Given the description of an element on the screen output the (x, y) to click on. 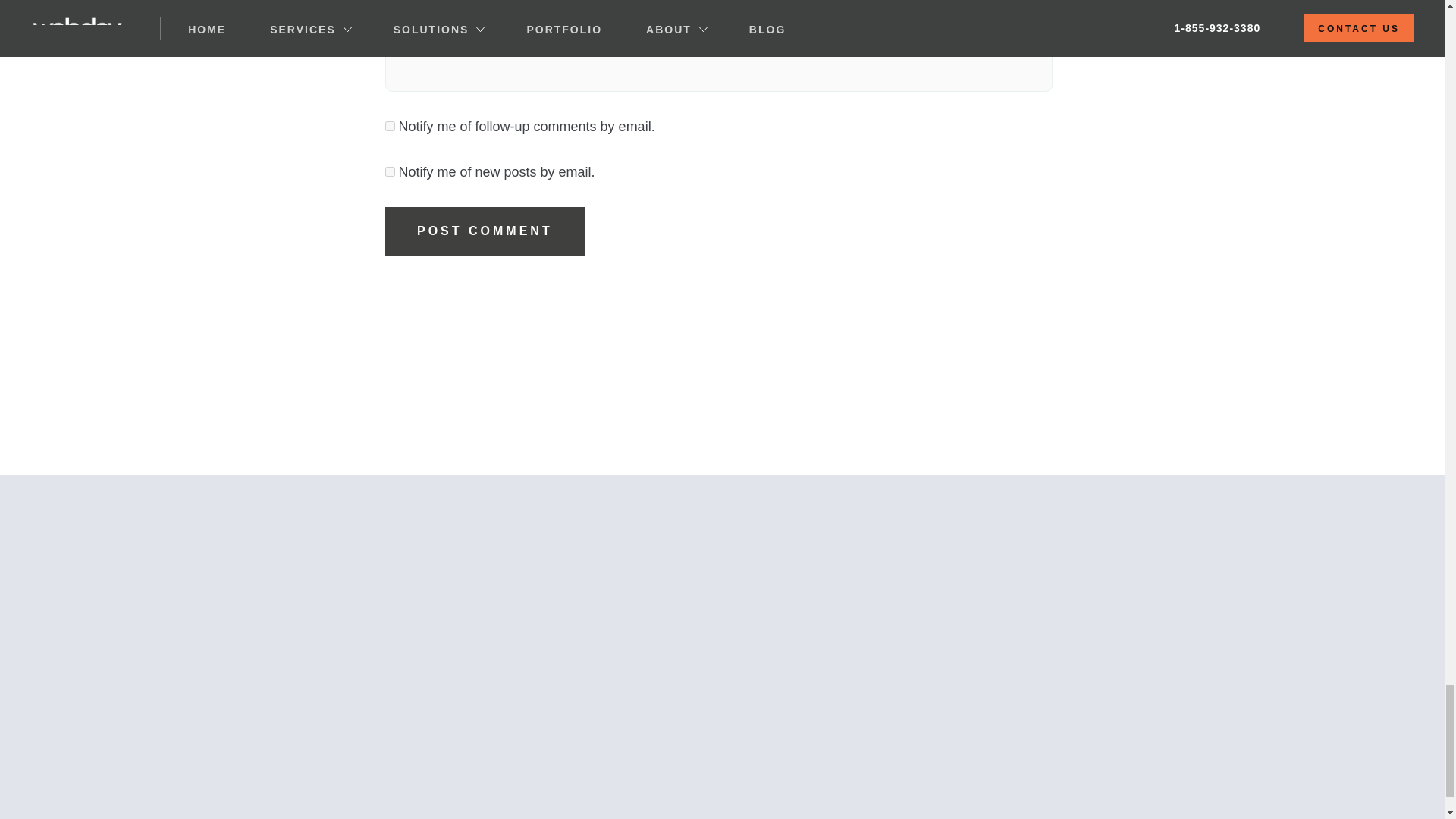
subscribe (389, 171)
subscribe (389, 126)
Post Comment (485, 231)
